Given the description of an element on the screen output the (x, y) to click on. 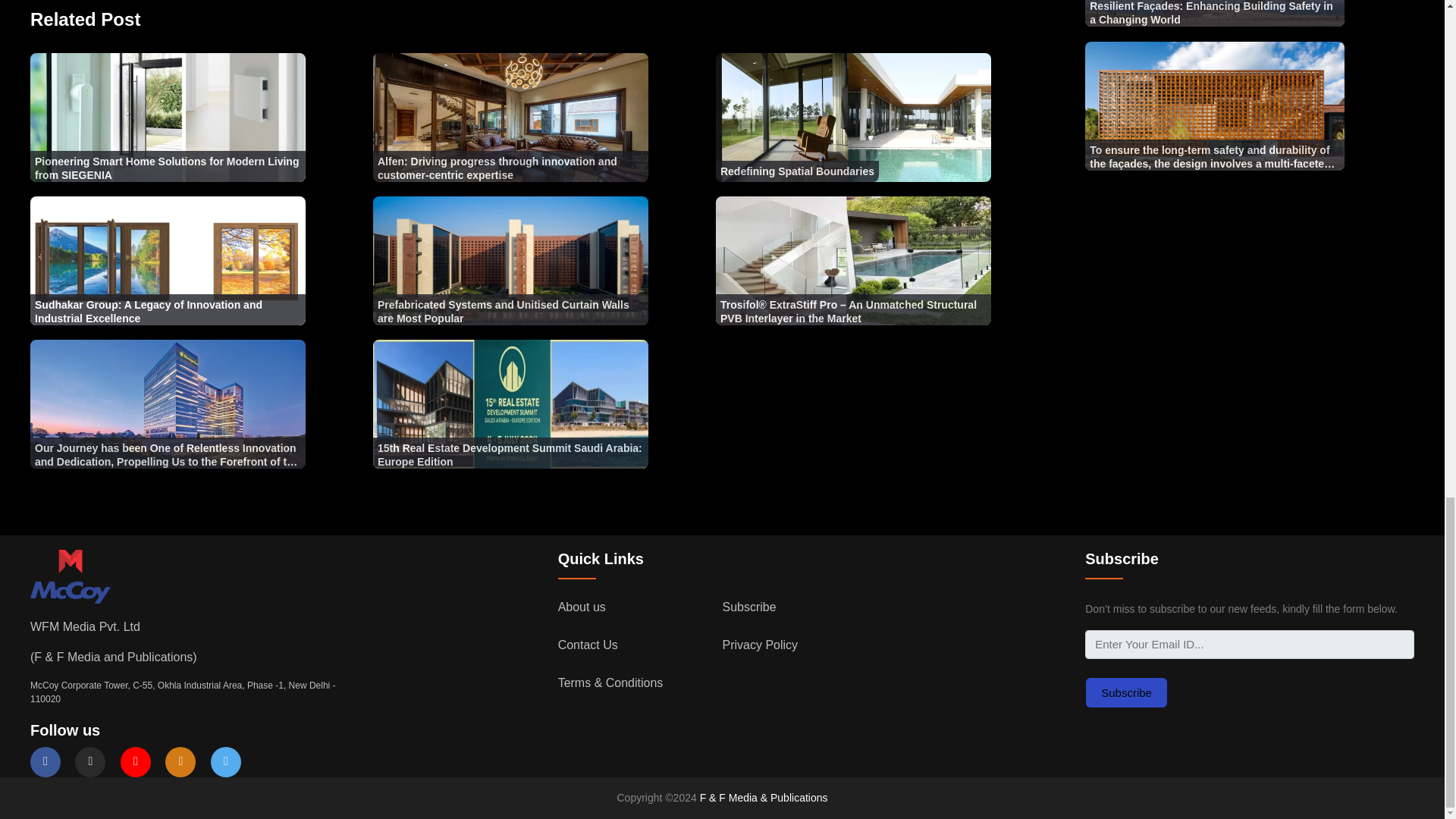
Subscribe (1125, 692)
